Given the description of an element on the screen output the (x, y) to click on. 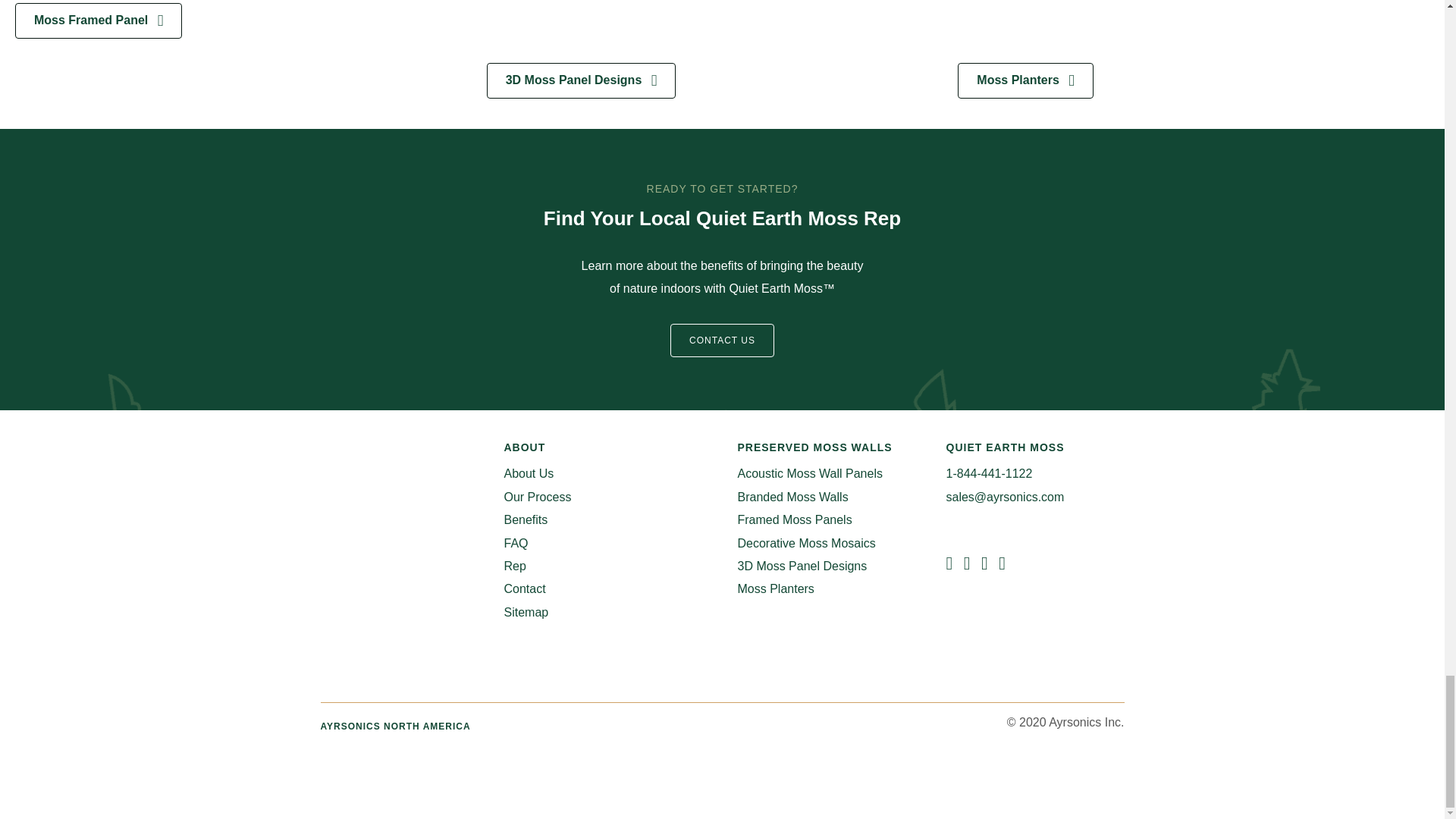
3D-Moss-Panel (721, 27)
MossPlanters (1193, 27)
